Given the description of an element on the screen output the (x, y) to click on. 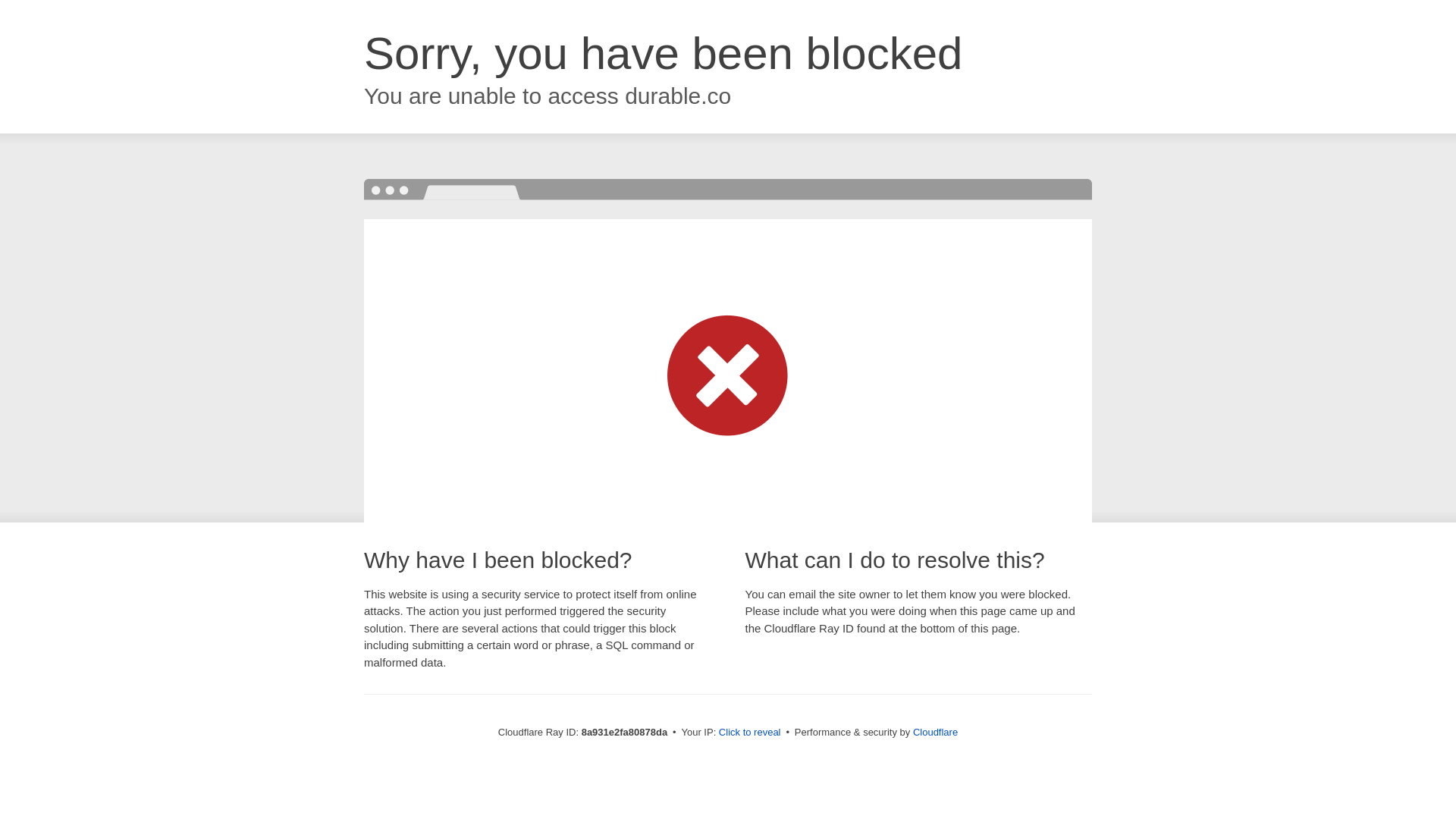
Cloudflare (935, 731)
Click to reveal (749, 732)
